Given the description of an element on the screen output the (x, y) to click on. 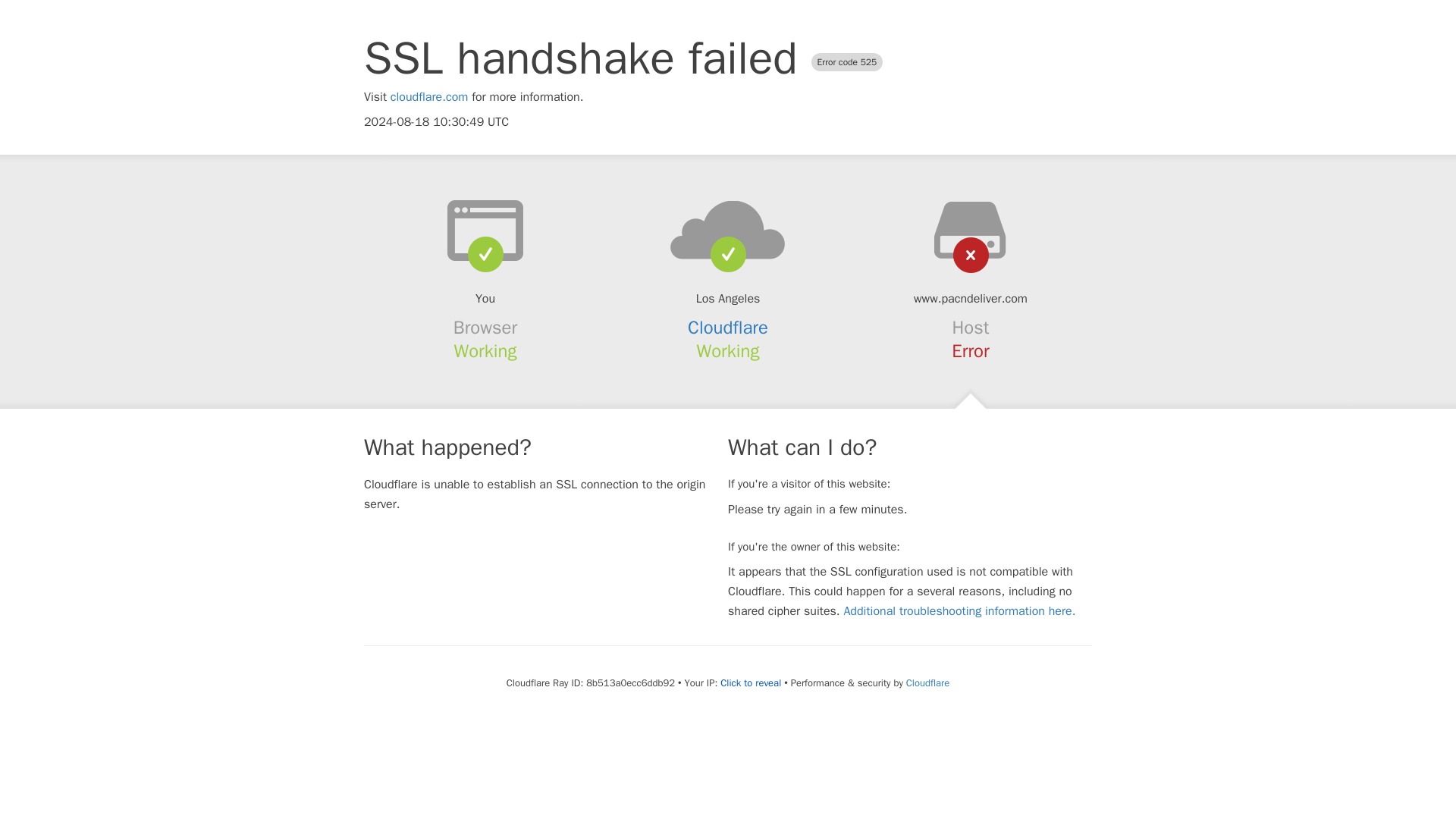
Additional troubleshooting information here. (959, 611)
Click to reveal (750, 683)
Cloudflare (927, 682)
cloudflare.com (429, 96)
Cloudflare (727, 327)
